Given the description of an element on the screen output the (x, y) to click on. 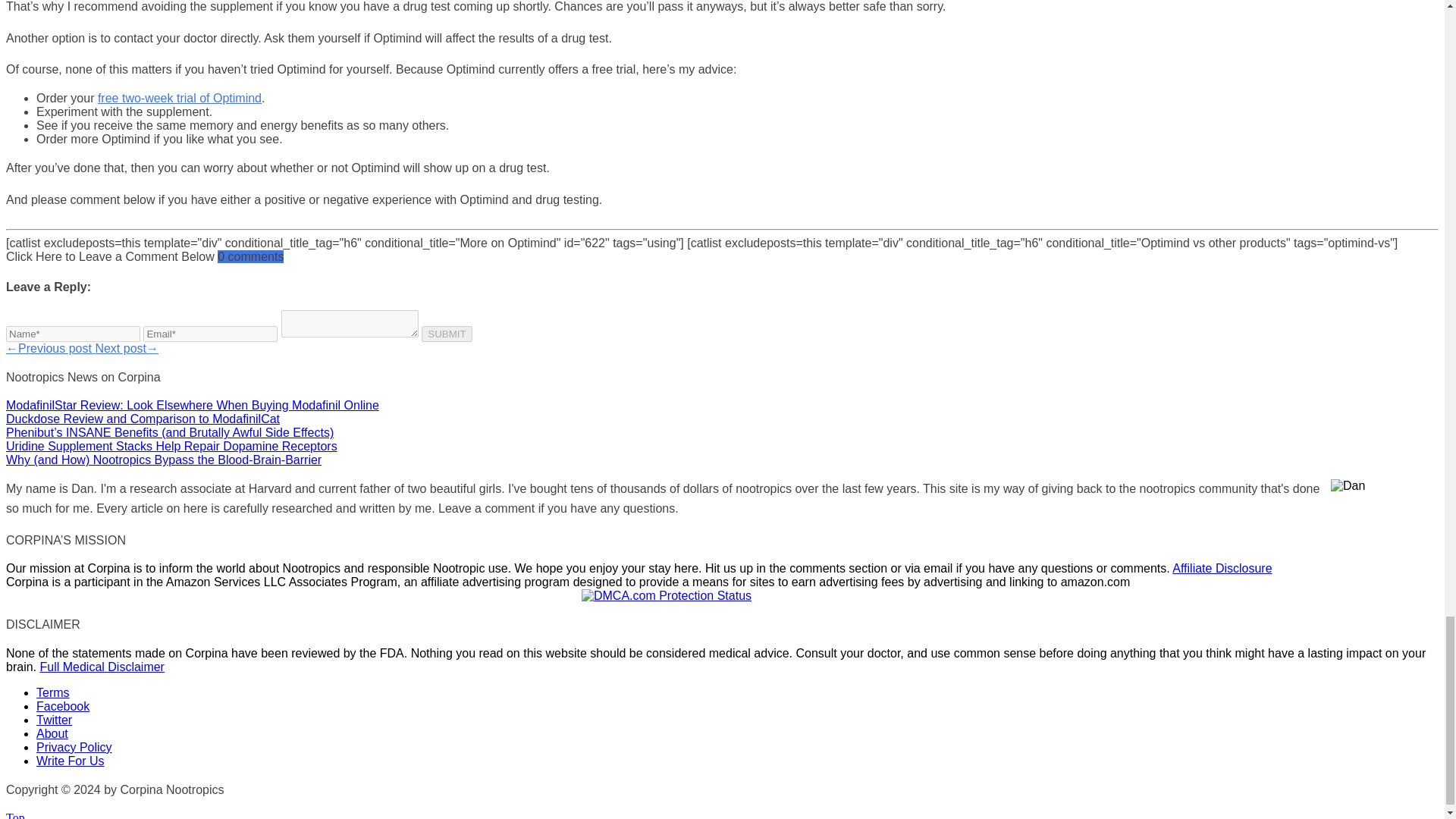
DMCA.com Protection Status (665, 594)
SUBMIT (446, 333)
